Given the description of an element on the screen output the (x, y) to click on. 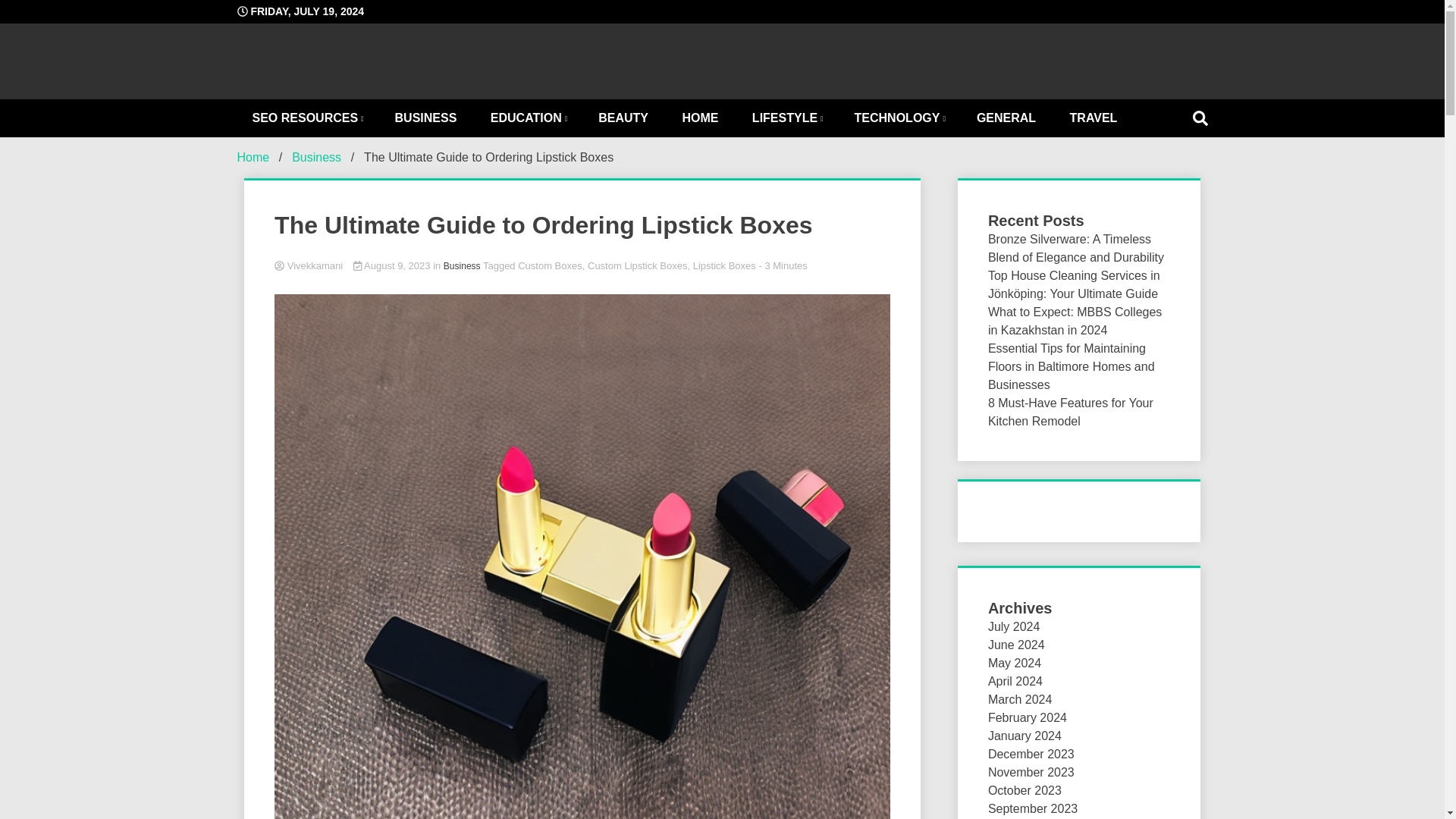
Estimated Reading Time of Article (782, 265)
LIFESTYLE (785, 118)
TRAVEL (1093, 118)
scarlett-online (874, 174)
Custom Lipstick Boxes (637, 265)
TECHNOLOGY (899, 118)
Lipstick Boxes (724, 265)
SEO RESOURCES (305, 118)
Business (316, 156)
August 9, 2023 (392, 265)
Vivekkamani (582, 266)
EDUCATION (527, 118)
Business (462, 265)
Home (252, 156)
HOME (699, 118)
